Given the description of an element on the screen output the (x, y) to click on. 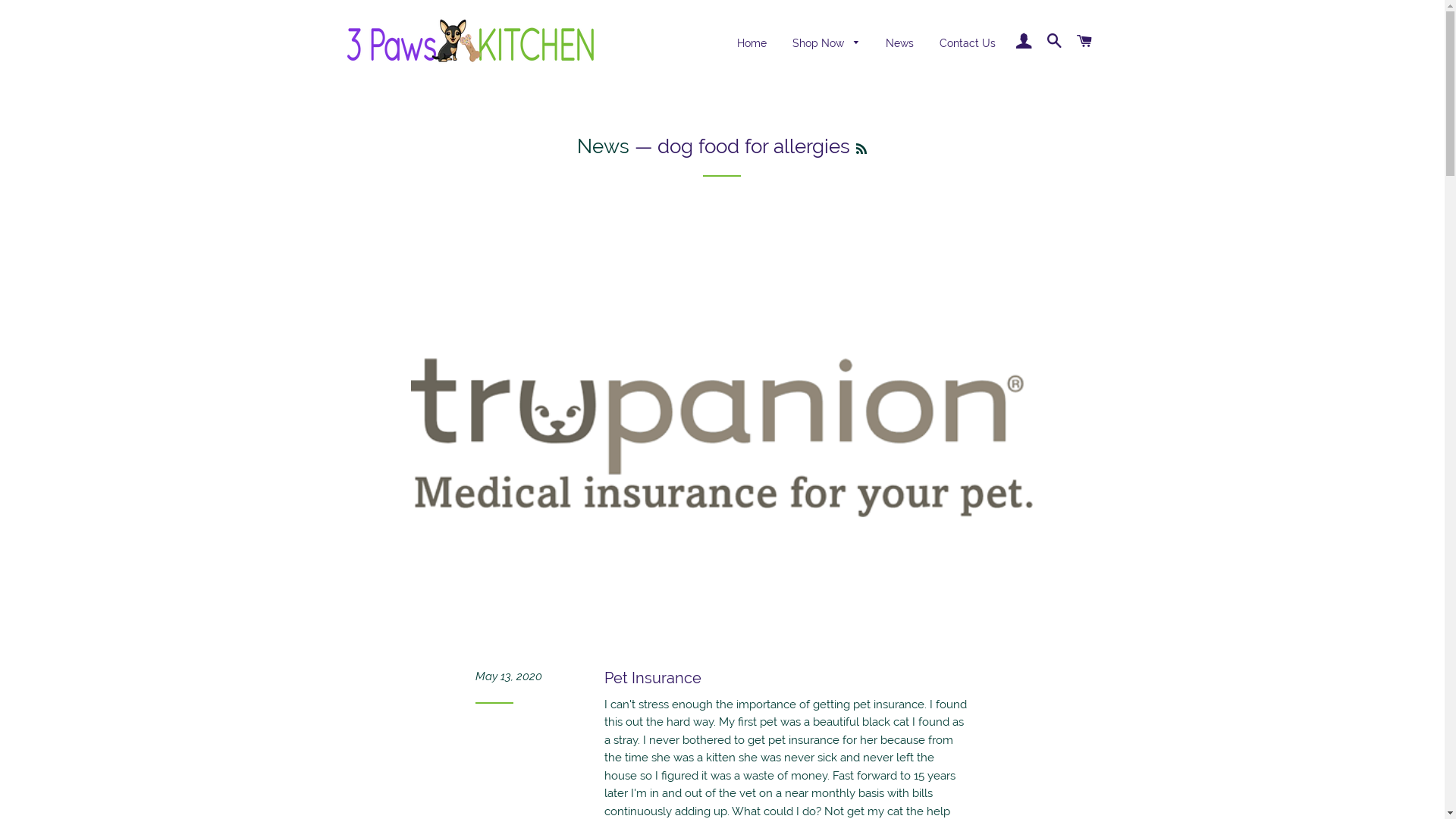
Log In Element type: text (1023, 41)
Shop Now Element type: text (826, 43)
Pet Insurance Element type: text (652, 677)
Cart Element type: text (1083, 41)
RSS Element type: text (861, 148)
News Element type: text (603, 145)
Search Element type: text (1053, 41)
Contact Us Element type: text (967, 43)
Home Element type: text (751, 43)
News Element type: text (899, 43)
